Given the description of an element on the screen output the (x, y) to click on. 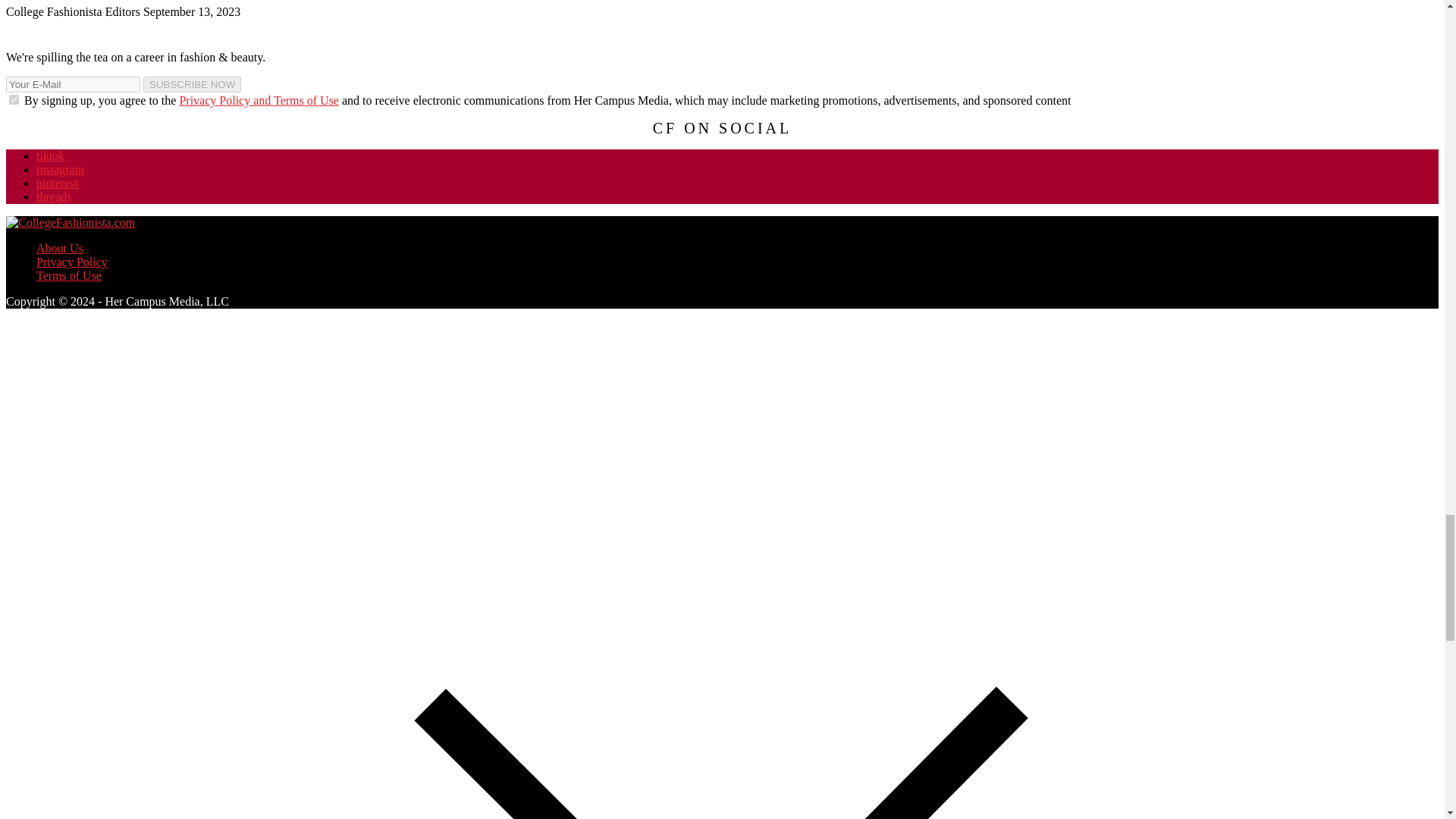
on (13, 99)
